Given the description of an element on the screen output the (x, y) to click on. 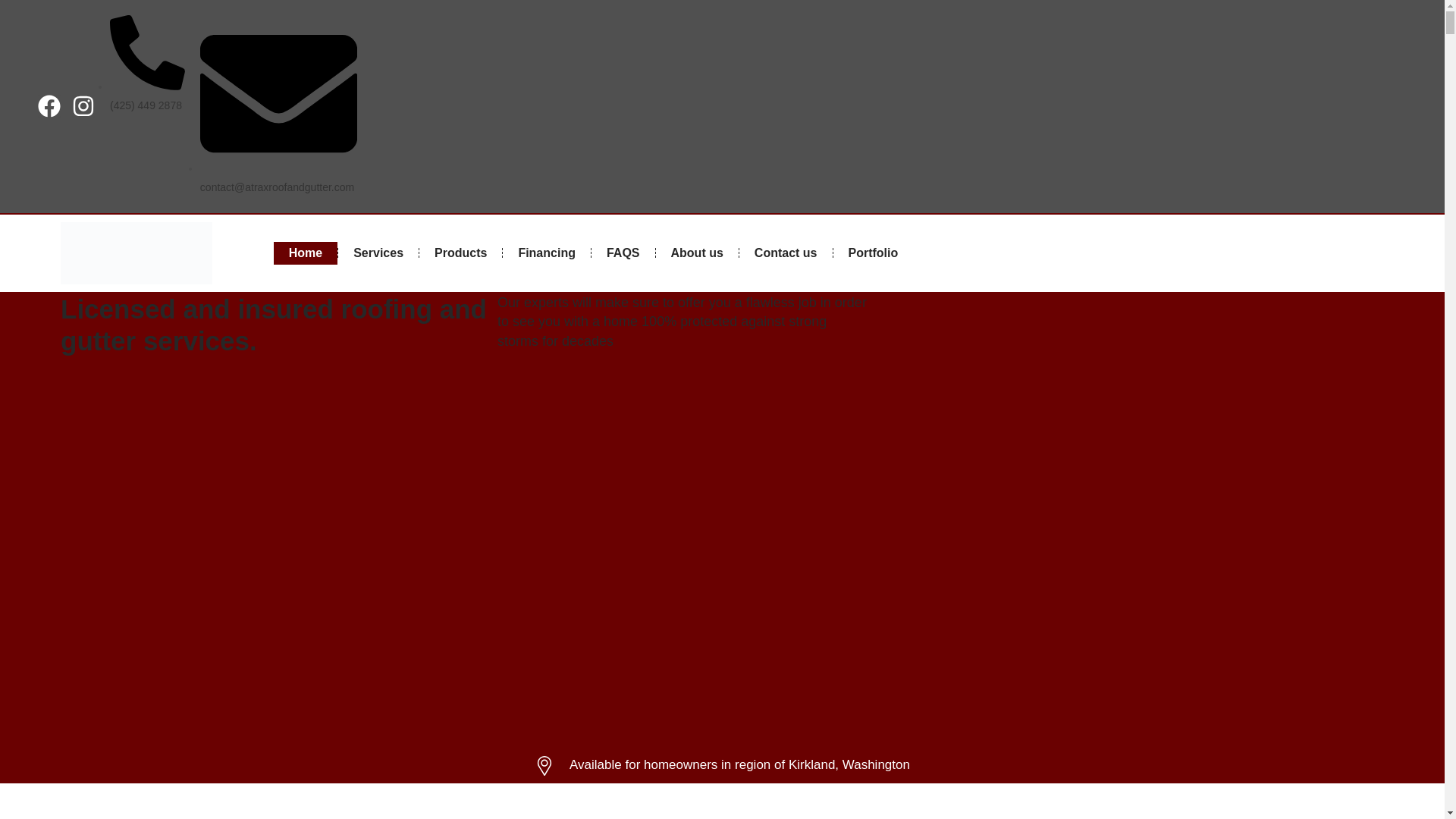
Contact us (785, 252)
Home (305, 252)
Financing (546, 252)
FAQS (623, 252)
Portfolio (872, 252)
Products (460, 252)
Services (378, 252)
About us (696, 252)
